Given the description of an element on the screen output the (x, y) to click on. 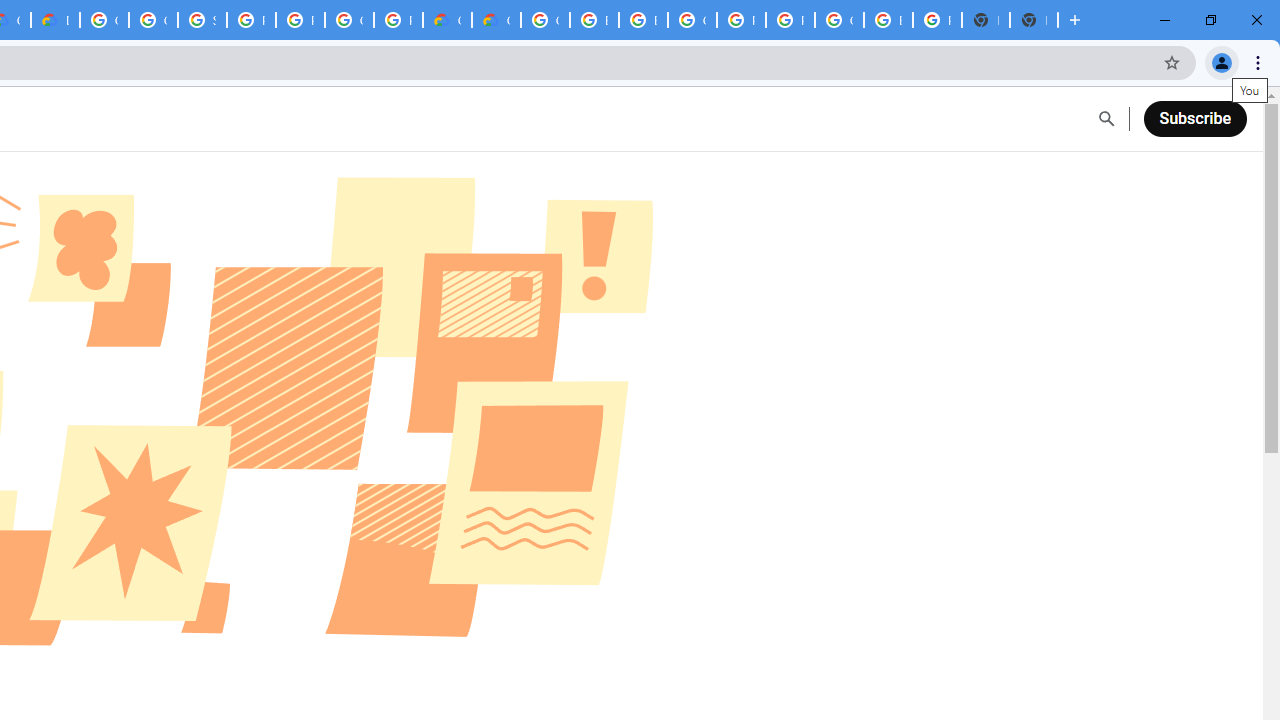
Browse Chrome as a guest - Computer - Google Chrome Help (643, 20)
Google Cloud Estimate Summary (496, 20)
Google Cloud Platform (349, 20)
Browse Chrome as a guest - Computer - Google Chrome Help (594, 20)
Google Cloud Platform (692, 20)
Google Cloud Platform (104, 20)
